Given the description of an element on the screen output the (x, y) to click on. 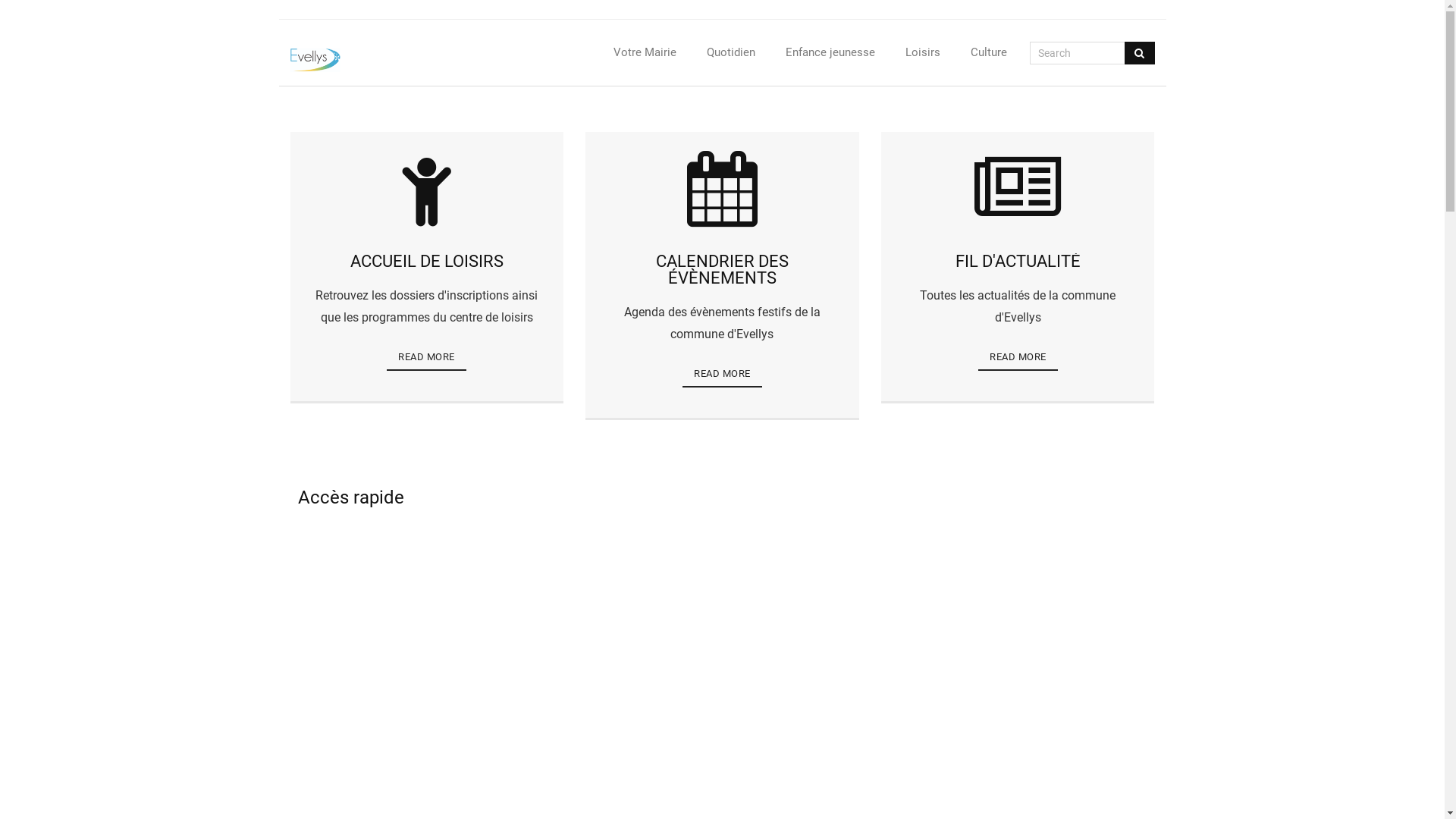
READ MORE Element type: text (426, 357)
Loisirs Element type: text (922, 52)
Quotidien Element type: text (730, 52)
Search Element type: text (38, 17)
READ MORE Element type: text (1017, 357)
Enfance jeunesse Element type: text (830, 52)
Votre Mairie Element type: text (643, 52)
READ MORE Element type: text (722, 373)
Culture Element type: text (988, 52)
